Given the description of an element on the screen output the (x, y) to click on. 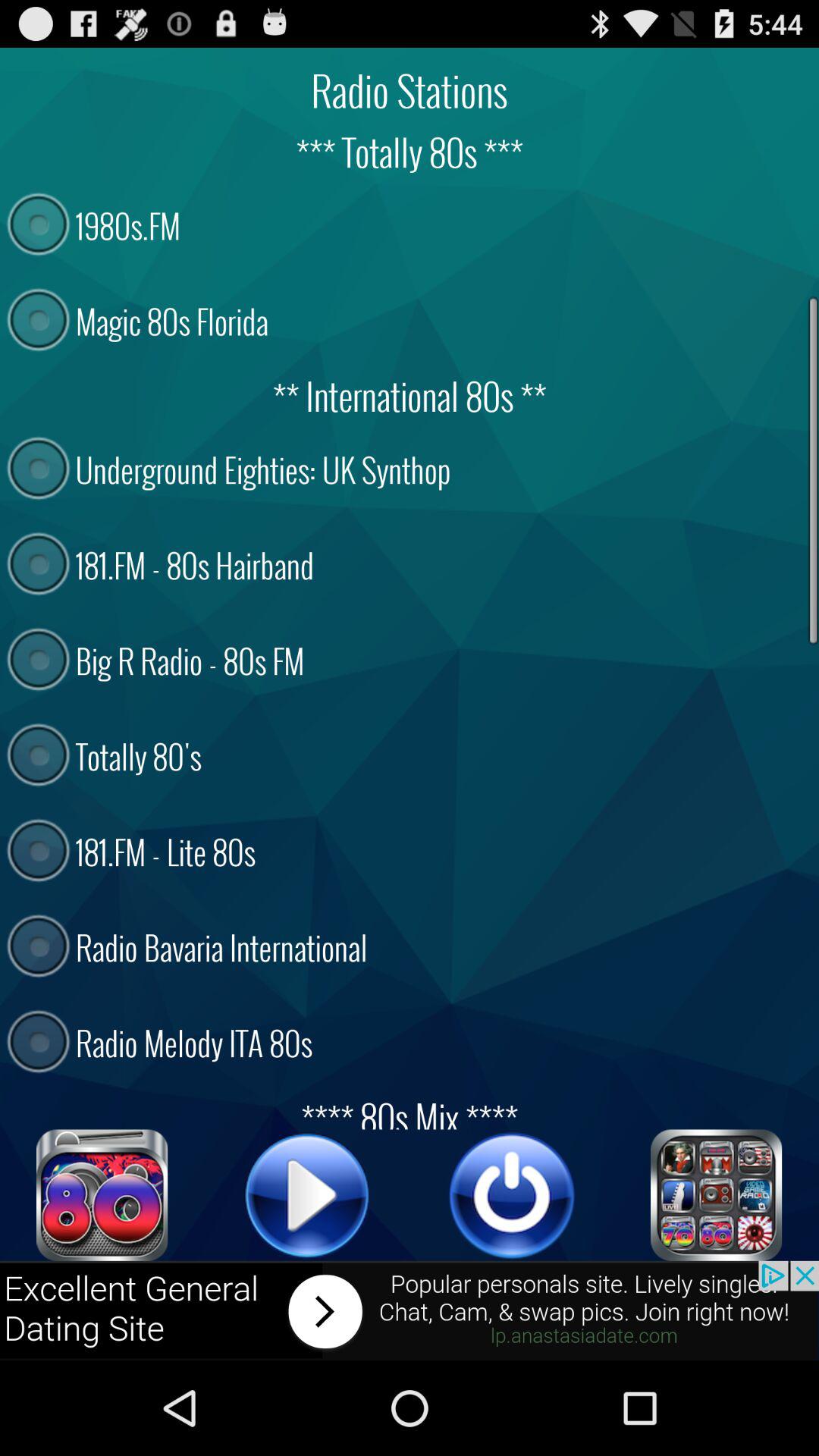
app setting (716, 1194)
